Given the description of an element on the screen output the (x, y) to click on. 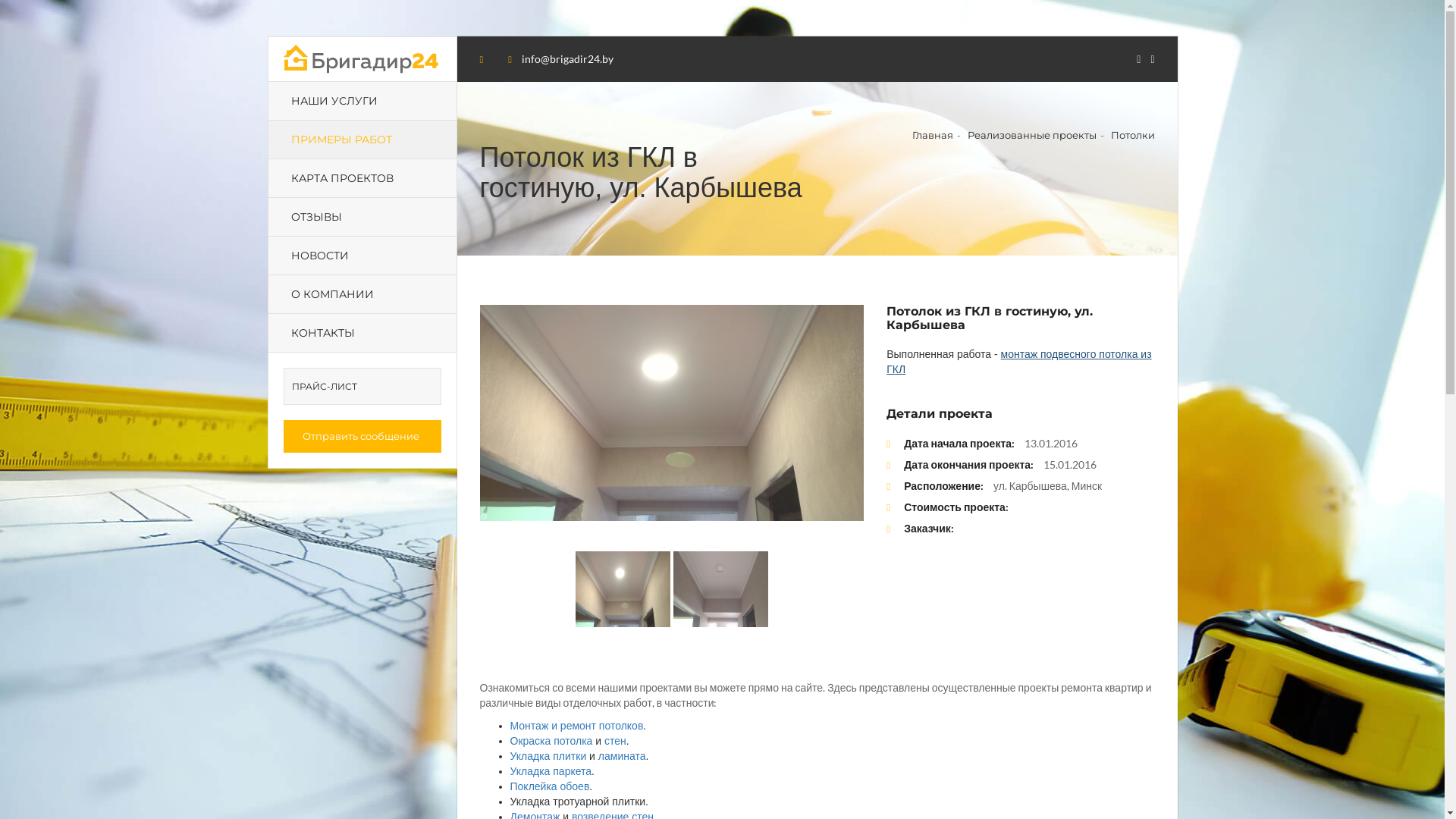
logo.png Element type: hover (360, 58)
info@brigadir24.by Element type: text (567, 58)
